Given the description of an element on the screen output the (x, y) to click on. 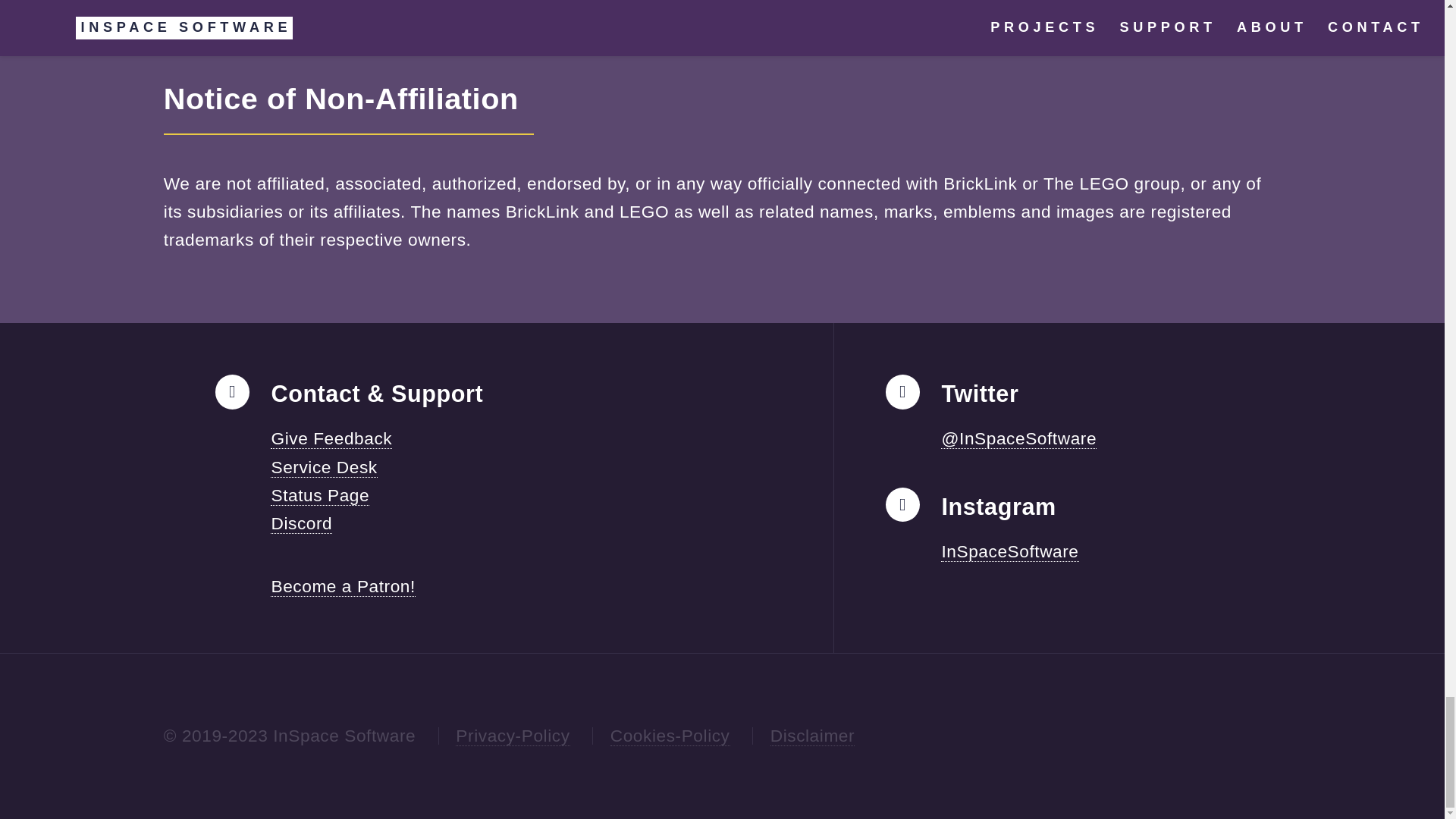
InSpaceSoftware (1009, 551)
Give Feedback (330, 438)
Cookies-Policy (670, 735)
Status Page (319, 495)
Privacy-Policy (512, 735)
Service Desk (323, 467)
Discord (300, 523)
Become a Patron! (342, 586)
Disclaimer (812, 735)
